Given the description of an element on the screen output the (x, y) to click on. 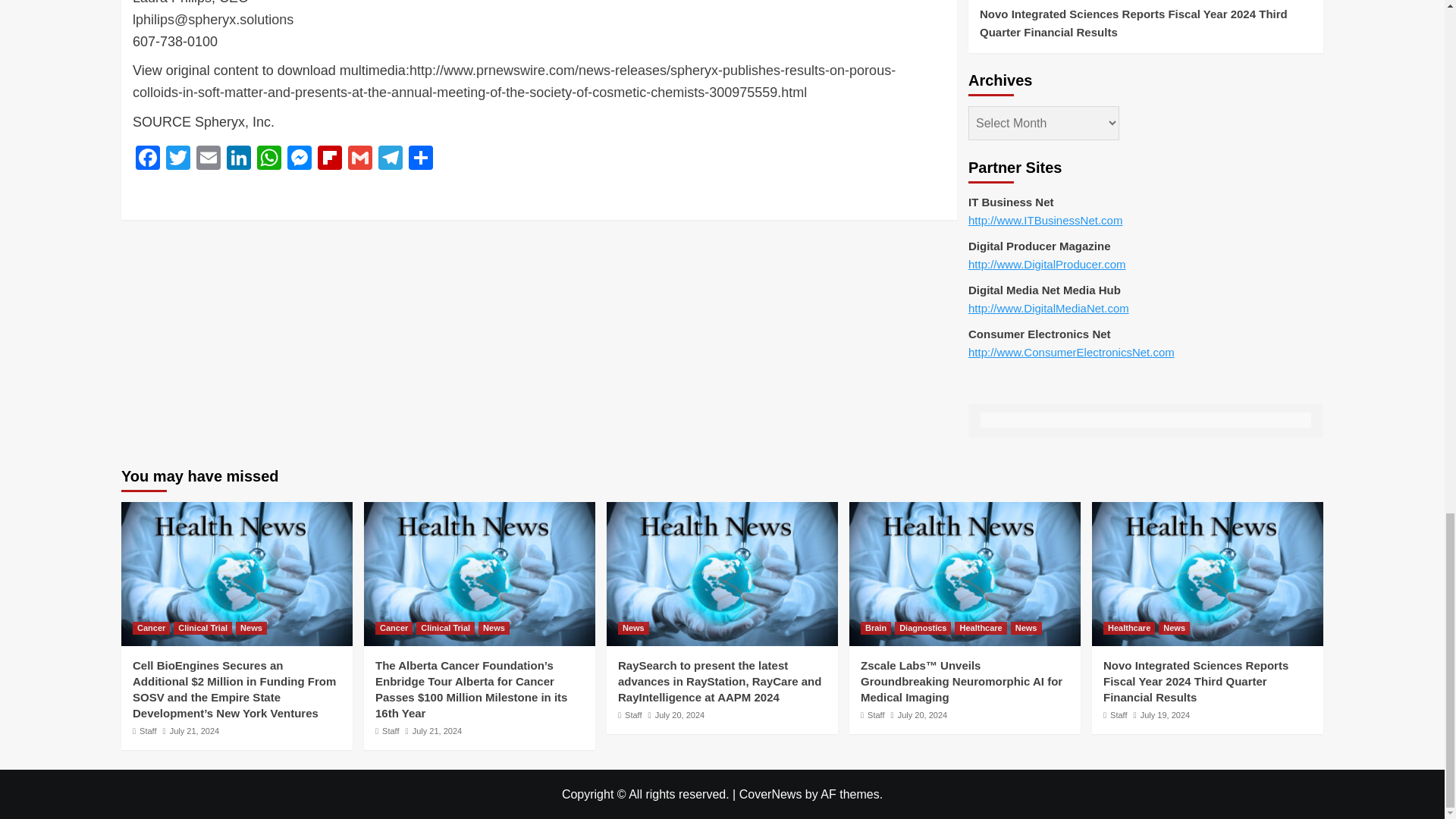
Gmail (360, 159)
Email (208, 159)
LinkedIn (238, 159)
Email (208, 159)
Flipboard (329, 159)
Twitter (178, 159)
Telegram (390, 159)
Twitter (178, 159)
Facebook (147, 159)
WhatsApp (268, 159)
